Given the description of an element on the screen output the (x, y) to click on. 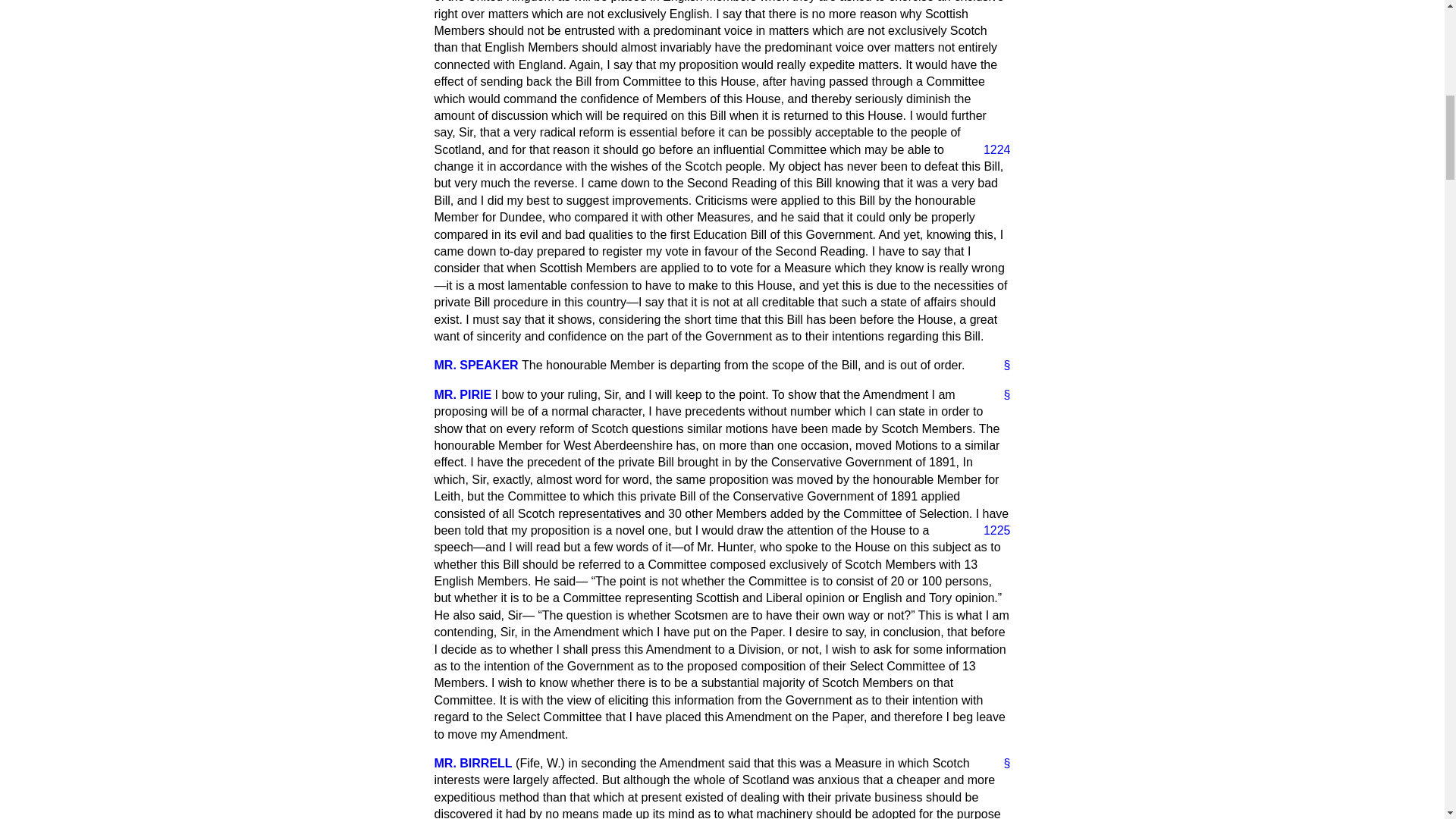
Mr Duncan Pirie (462, 394)
Link to this speech by Mr William Gully (1000, 365)
MR. SPEAKER (475, 364)
1224 (990, 149)
Mr William Gully (475, 364)
MR. BIRRELL (472, 762)
1225 (990, 530)
MR. PIRIE (462, 394)
Link to this speech by Mr Augustine Birrell (1000, 763)
Mr Augustine Birrell (472, 762)
